Given the description of an element on the screen output the (x, y) to click on. 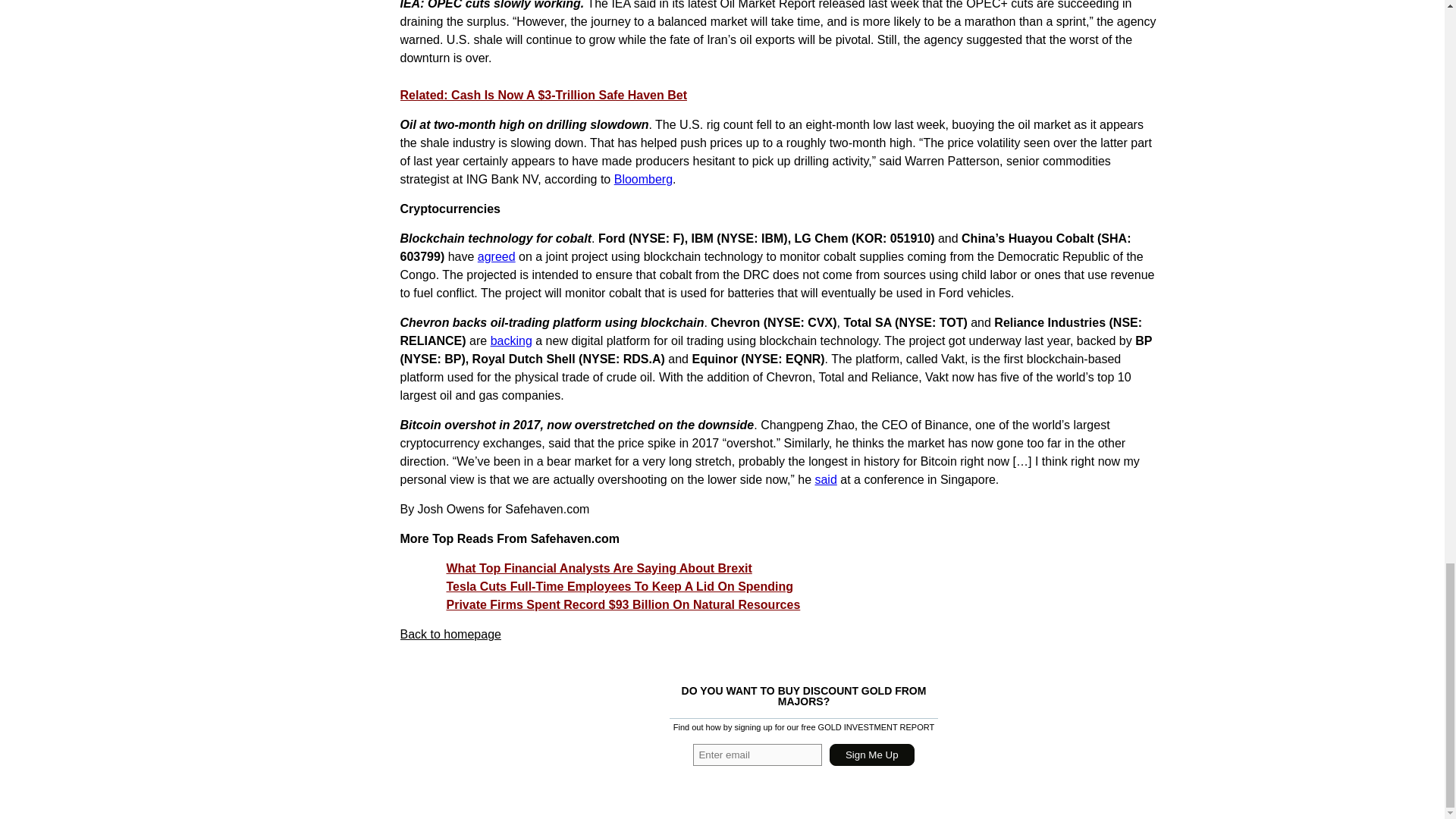
Sign Me Up (871, 754)
